Given the description of an element on the screen output the (x, y) to click on. 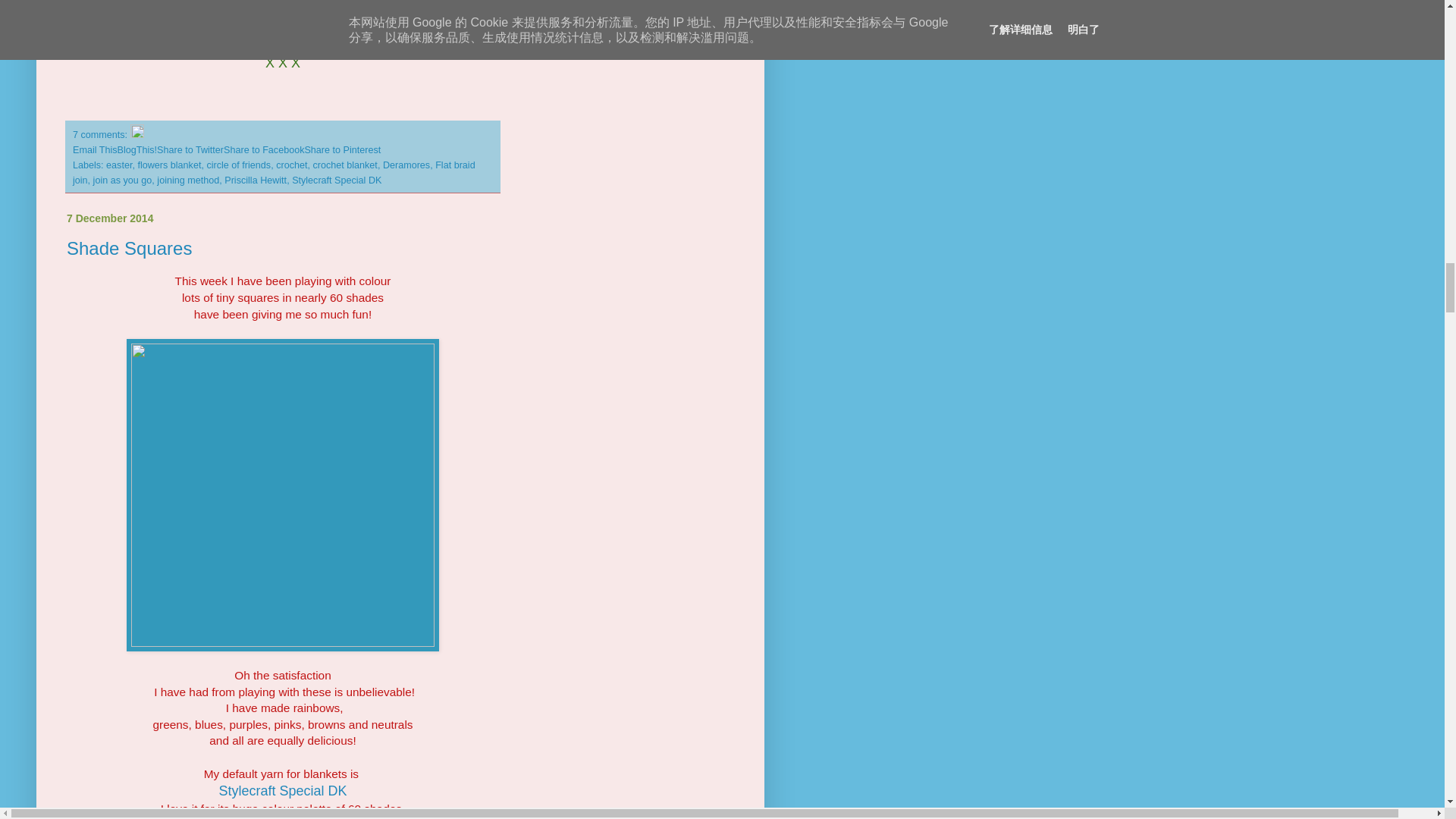
7 comments: (101, 134)
Email This (94, 149)
Priscilla Hewitt (255, 180)
BlogThis! (137, 149)
join as you go (122, 180)
Share to Twitter (190, 149)
Flat braid join (274, 172)
crochet (291, 164)
Share to Facebook (264, 149)
Share to Pinterest (342, 149)
Share to Facebook (264, 149)
Edit Post (137, 134)
Stylecraft Special DK (282, 790)
crochet blanket (345, 164)
joining method (188, 180)
